Given the description of an element on the screen output the (x, y) to click on. 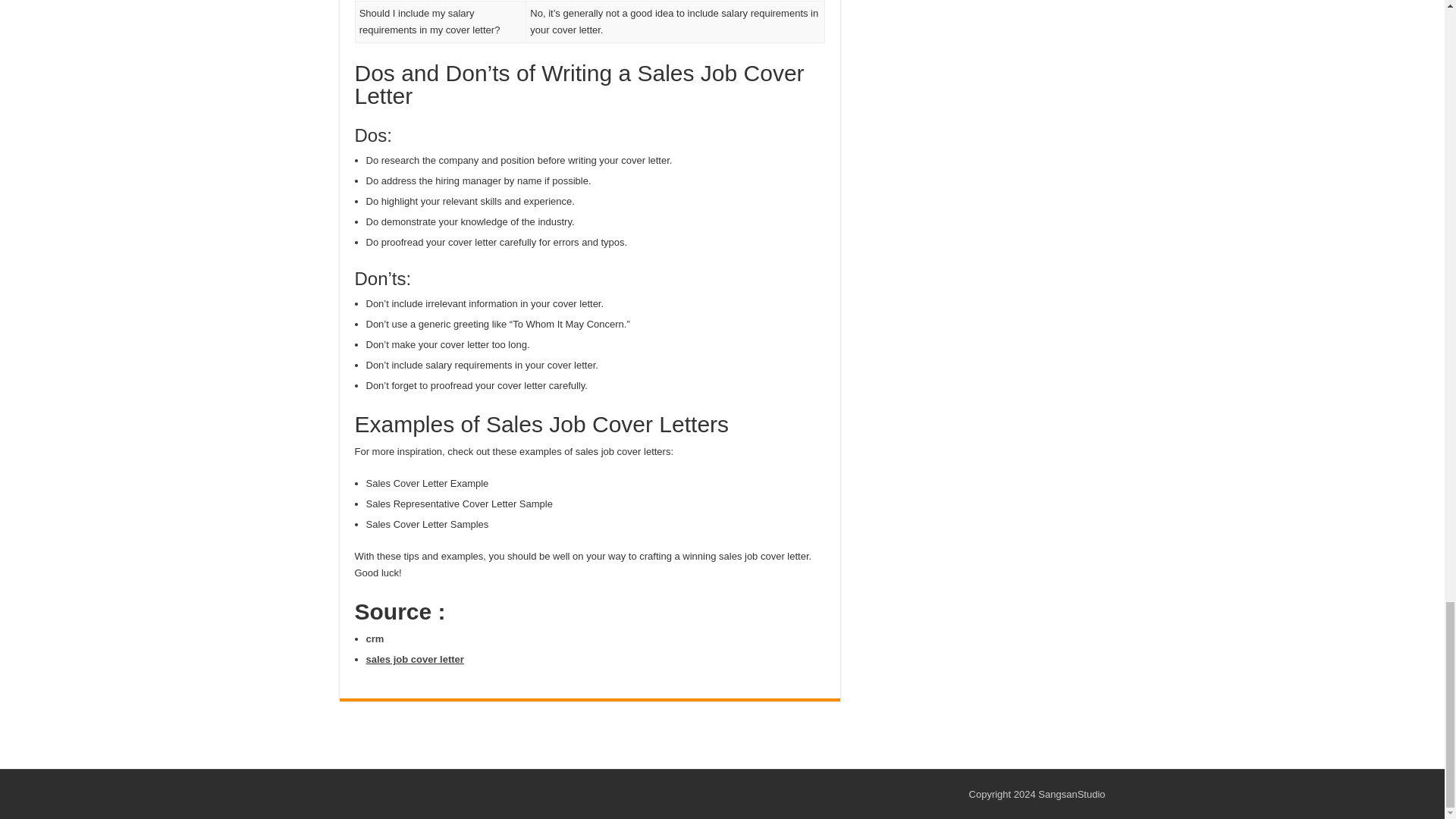
sales job cover letter (414, 659)
SangsanStudio (1071, 794)
crm (374, 638)
